Given the description of an element on the screen output the (x, y) to click on. 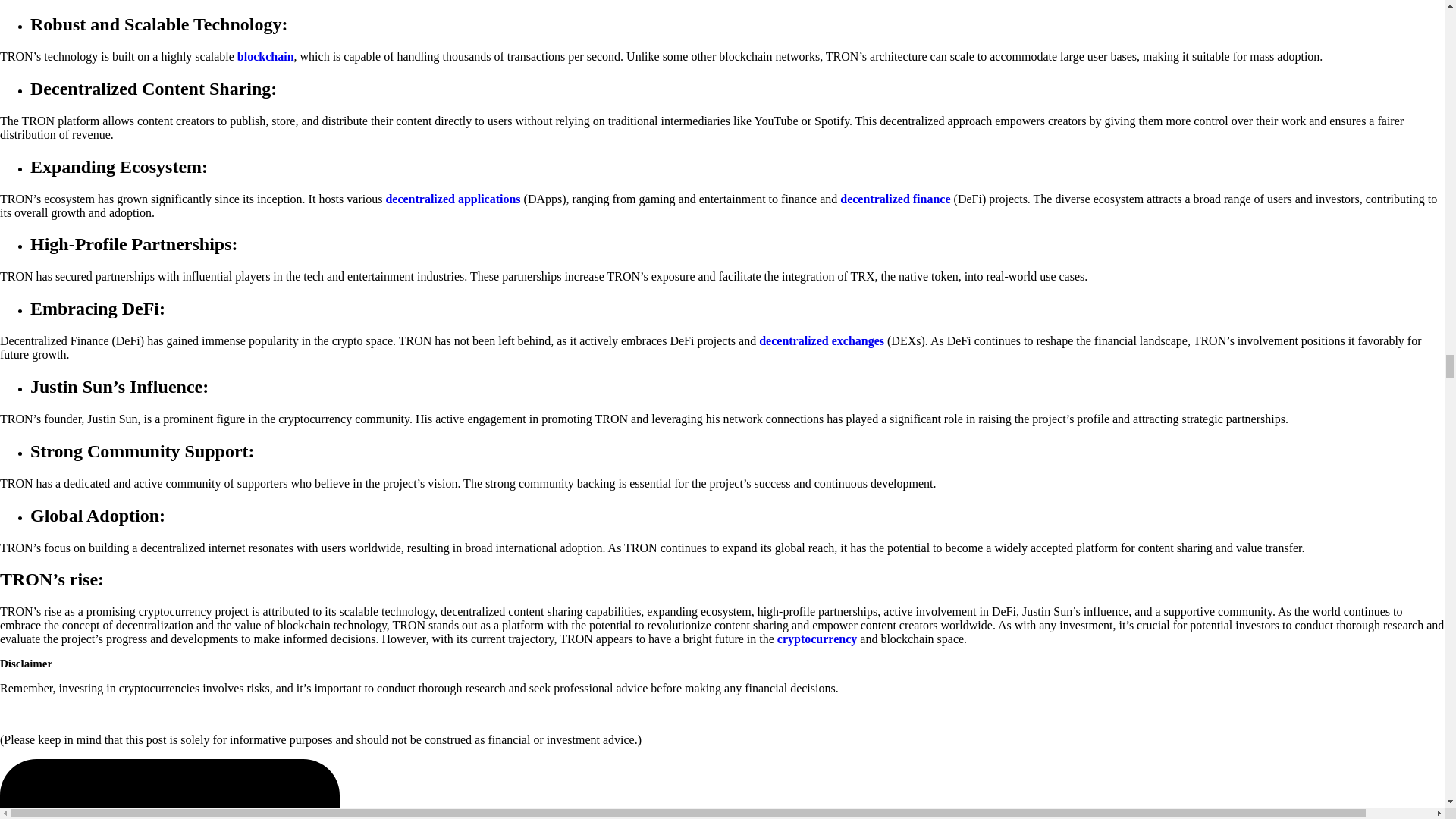
decentralized applications (452, 198)
decentralized finance (895, 198)
decentralized exchanges (820, 340)
cryptocurrency (818, 638)
blockchain (265, 56)
